Given the description of an element on the screen output the (x, y) to click on. 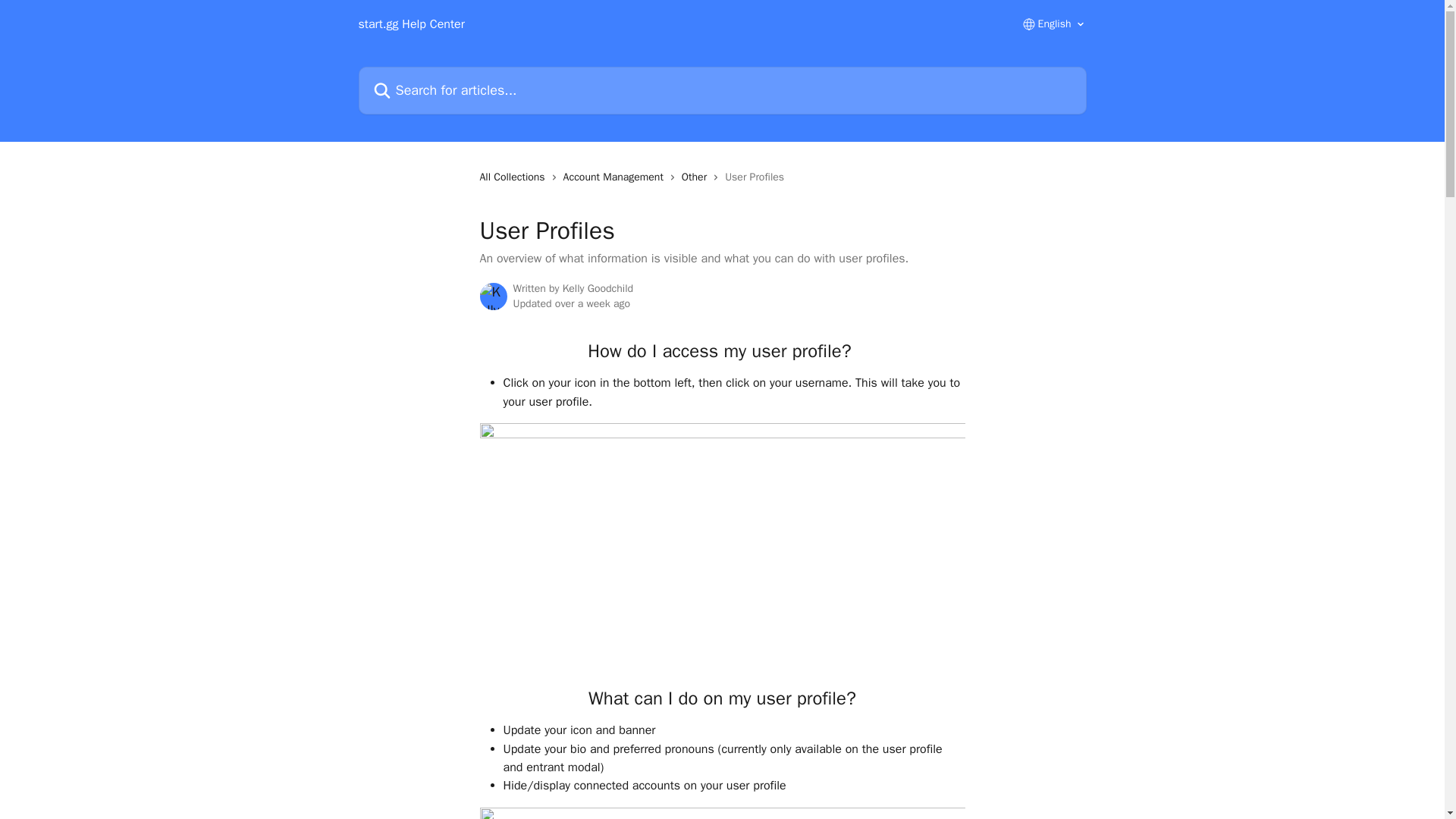
Account Management (616, 176)
All Collections (514, 176)
Other (697, 176)
